Given the description of an element on the screen output the (x, y) to click on. 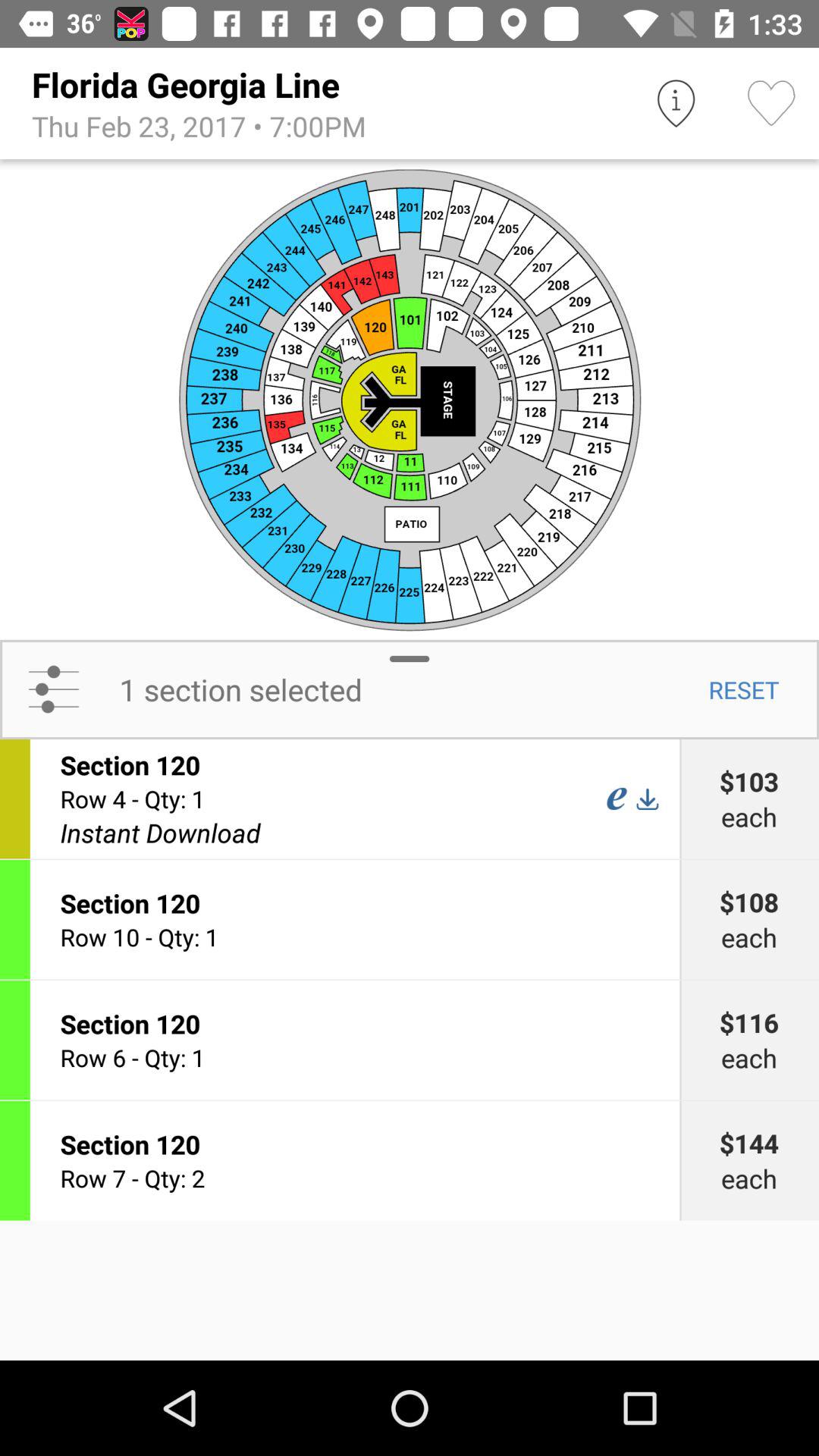
tap icon next to the thu feb 23 item (675, 103)
